Given the description of an element on the screen output the (x, y) to click on. 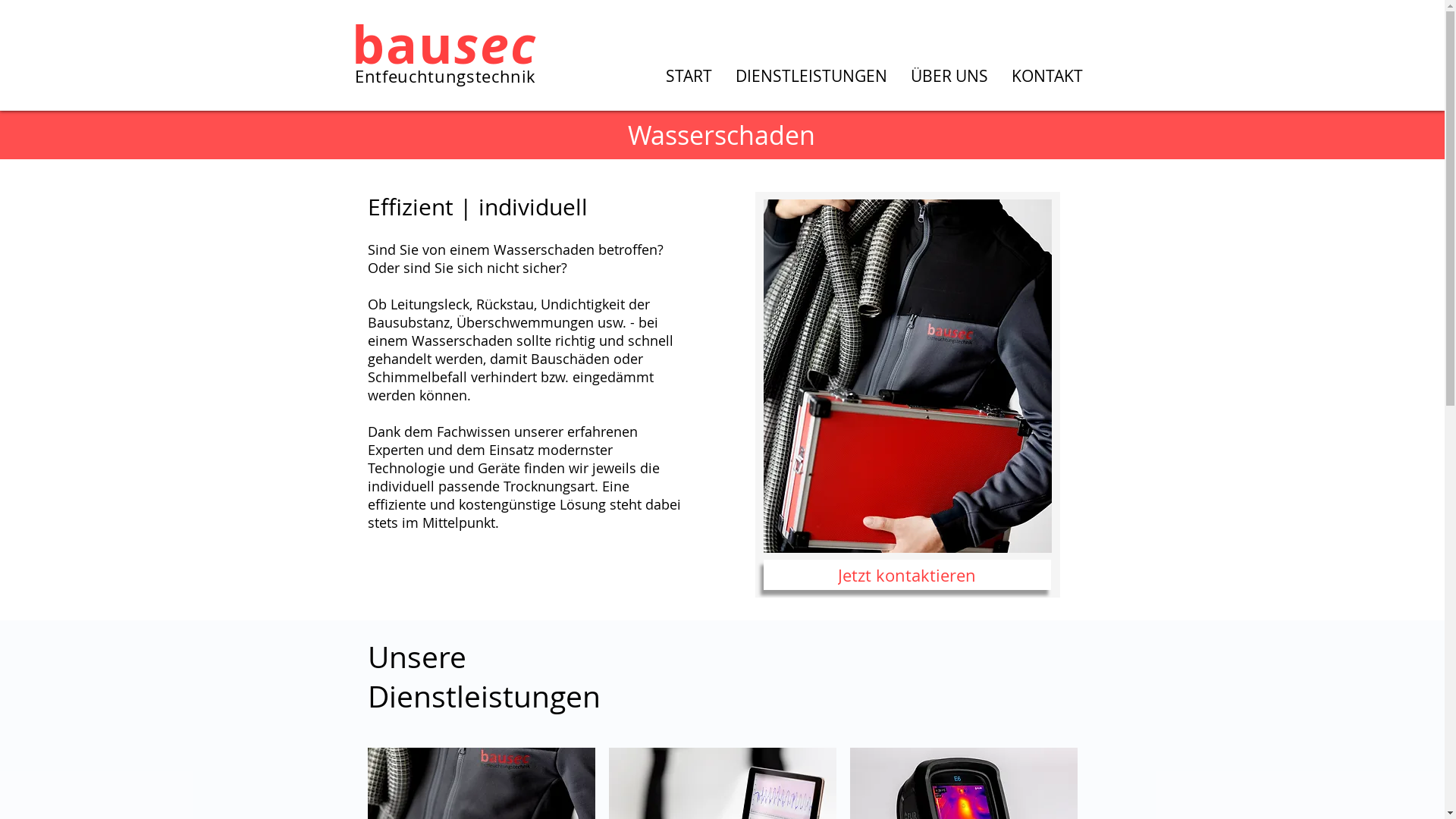
Jetzt kontaktieren Element type: text (906, 574)
Entfeuchtungstechnik Element type: text (445, 77)
bausec Element type: text (443, 43)
KONTAKT Element type: text (1046, 74)
START Element type: text (688, 74)
